Given the description of an element on the screen output the (x, y) to click on. 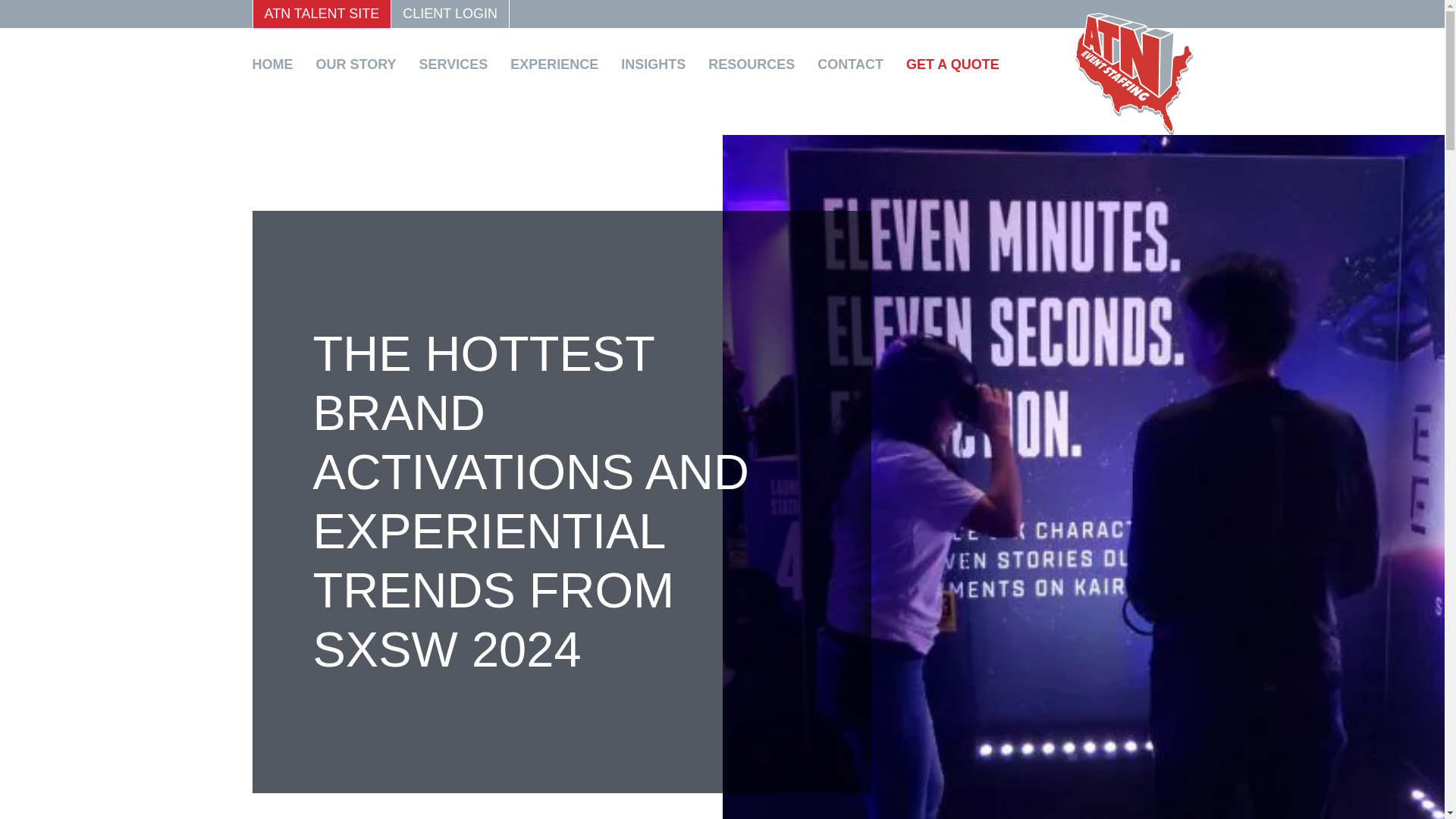
HOME (277, 64)
CONTACT (855, 64)
GET A QUOTE (957, 64)
SERVICES (459, 64)
RESOURCES (756, 64)
EXPERIENCE (560, 64)
OUR STORY (361, 64)
ATN TALENT SITE (320, 13)
INSIGHTS (659, 64)
CLIENT LOGIN (449, 13)
